Given the description of an element on the screen output the (x, y) to click on. 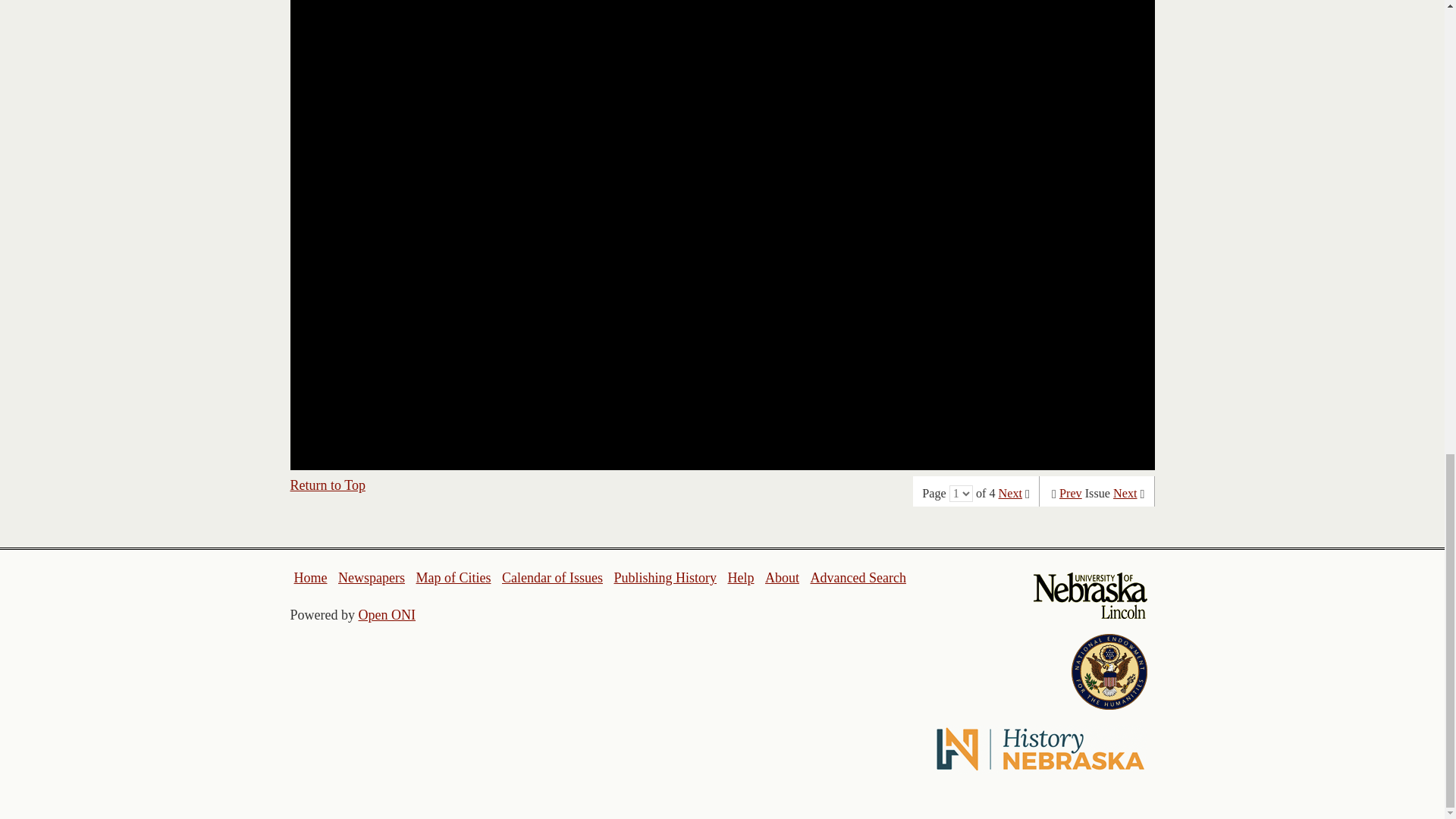
Calendar of Issues (552, 577)
Help (740, 577)
Newspapers (370, 577)
Return to Top (327, 485)
About (782, 577)
Publishing History (664, 577)
Next (1010, 493)
Home (310, 577)
Open ONI (386, 614)
Prev (1070, 493)
